Given the description of an element on the screen output the (x, y) to click on. 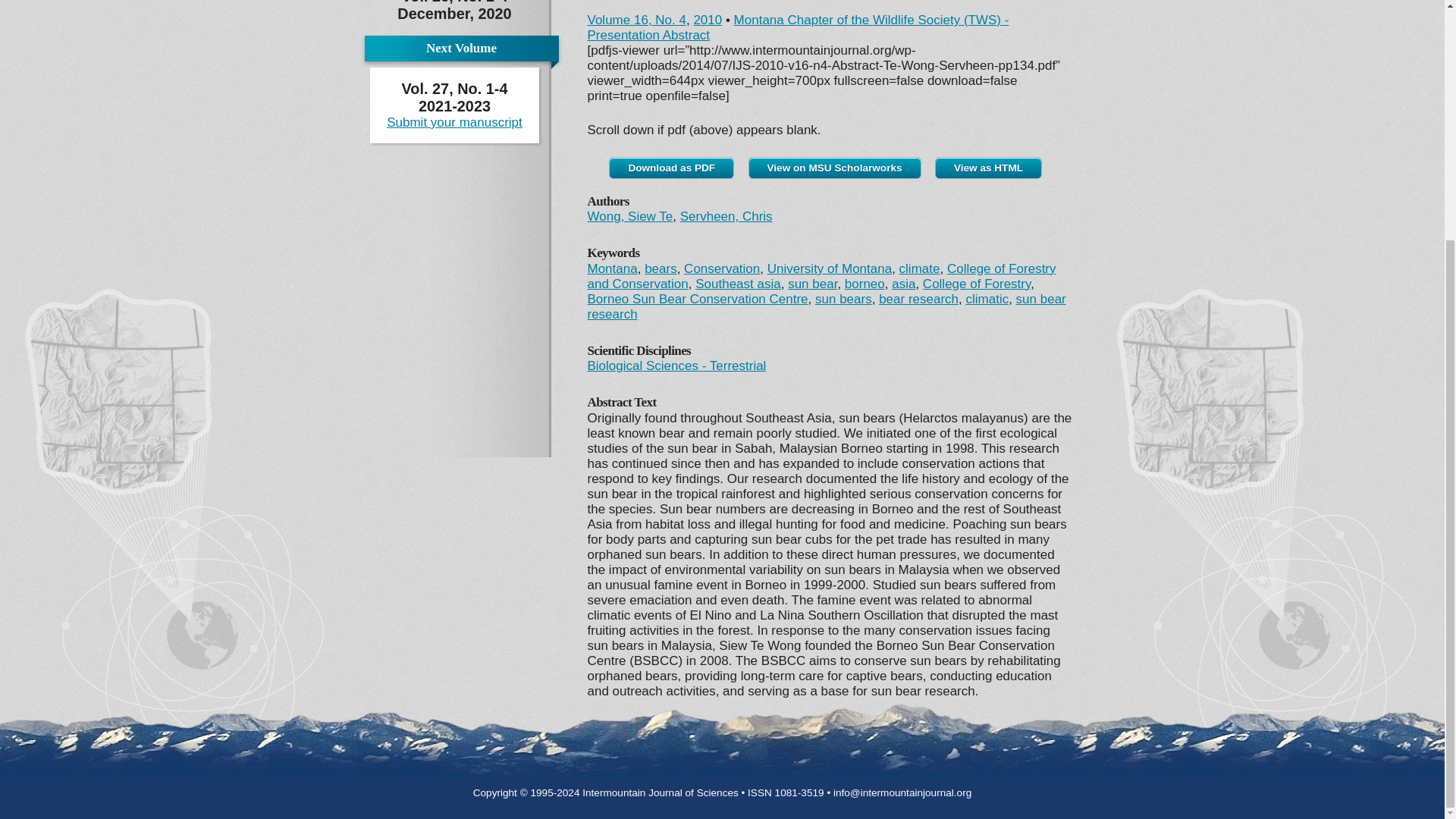
Servheen, Chris (726, 216)
Montana (611, 268)
Download as PDF (670, 168)
bears (661, 268)
Volume 16, No. 4 (635, 20)
2010 (707, 20)
Wong, Siew Te (629, 216)
View as HTML (988, 168)
Submit your manuscript (454, 122)
View on MSU Scholarworks (834, 168)
